Given the description of an element on the screen output the (x, y) to click on. 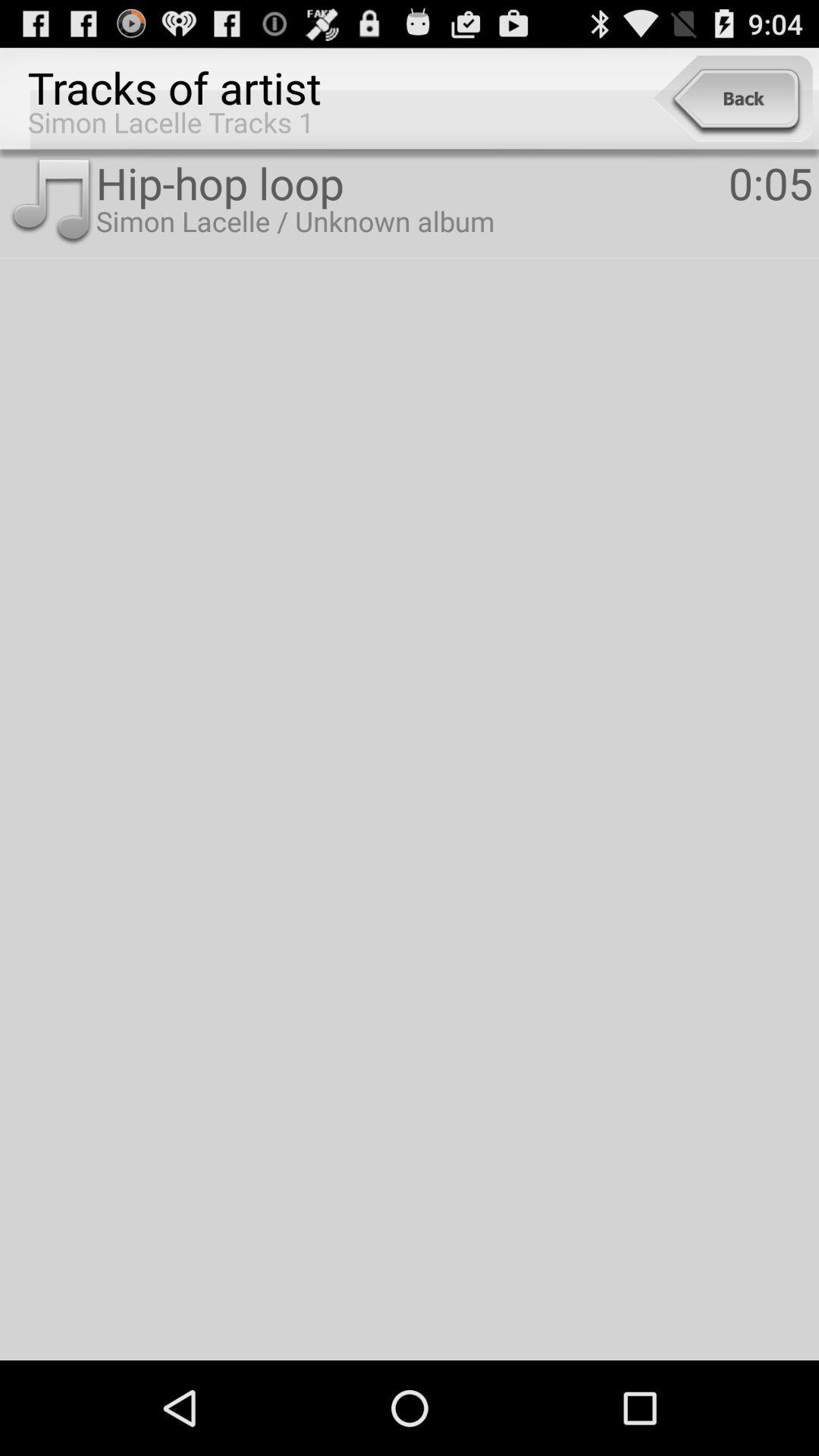
open item next to hip-hop loop icon (770, 182)
